Given the description of an element on the screen output the (x, y) to click on. 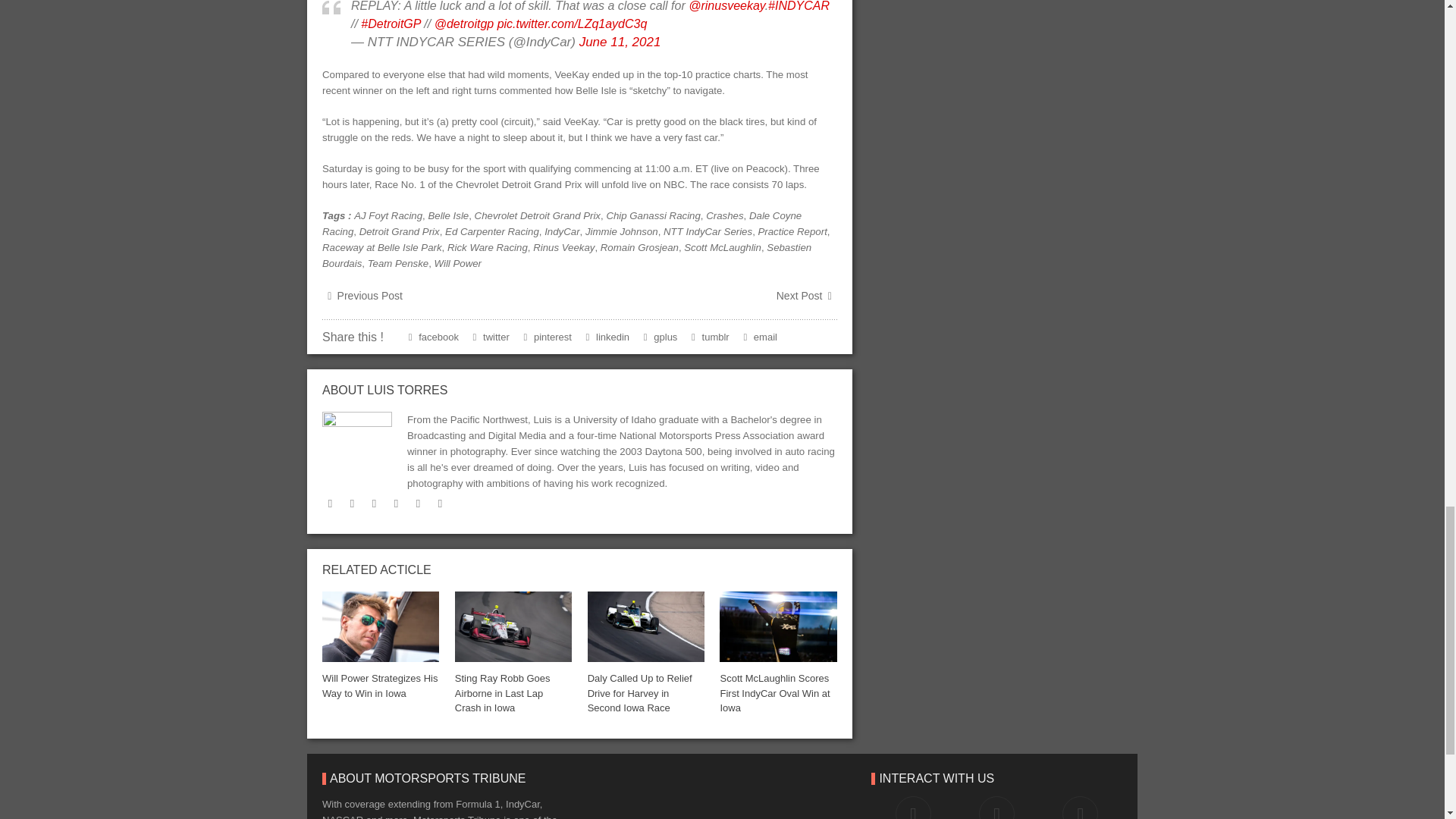
youtube (396, 503)
Will Power Strategizes His Way to Win in Iowa (380, 626)
Scott McLaughlin Scores First IndyCar Oval Win at Iowa (774, 692)
site (418, 503)
linkedin (373, 503)
Will Power Strategizes His Way to Win in Iowa (379, 685)
Sting Ray Robb Goes Airborne in Last Lap Crash in Iowa (502, 692)
Sting Ray Robb Goes Airborne in Last Lap Crash in Iowa (513, 626)
facebook (351, 503)
Scott McLaughlin Scores First IndyCar Oval Win at Iowa (777, 626)
twitter (329, 503)
email (440, 503)
Posts by Luis Torres (406, 390)
